Given the description of an element on the screen output the (x, y) to click on. 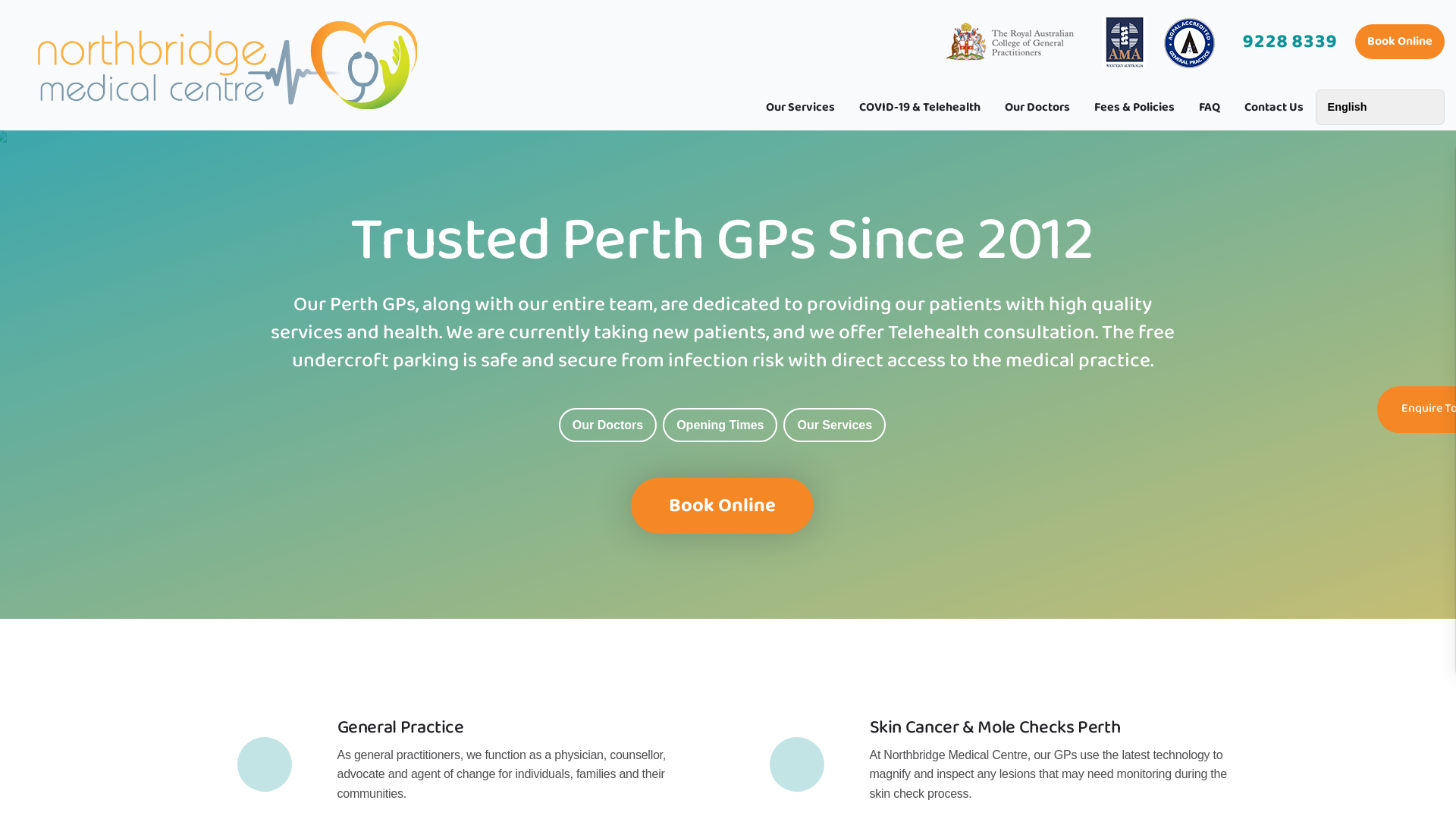
Our Services Element type: text (800, 108)
Our Services Element type: text (834, 424)
Book Online Element type: text (1399, 41)
9228 8339 Element type: text (1289, 41)
Fees & Policies Element type: text (1134, 108)
Northbridge Medical Element type: text (227, 65)
Opening Times Element type: text (719, 424)
Contact Us Element type: text (1273, 108)
Our Doctors Element type: text (1037, 108)
Book Online Element type: text (721, 505)
Submit Element type: text (866, 587)
COVID-19 & Telehealth Element type: text (919, 108)
FAQ Element type: text (1209, 108)
Our Doctors Element type: text (607, 424)
